Given the description of an element on the screen output the (x, y) to click on. 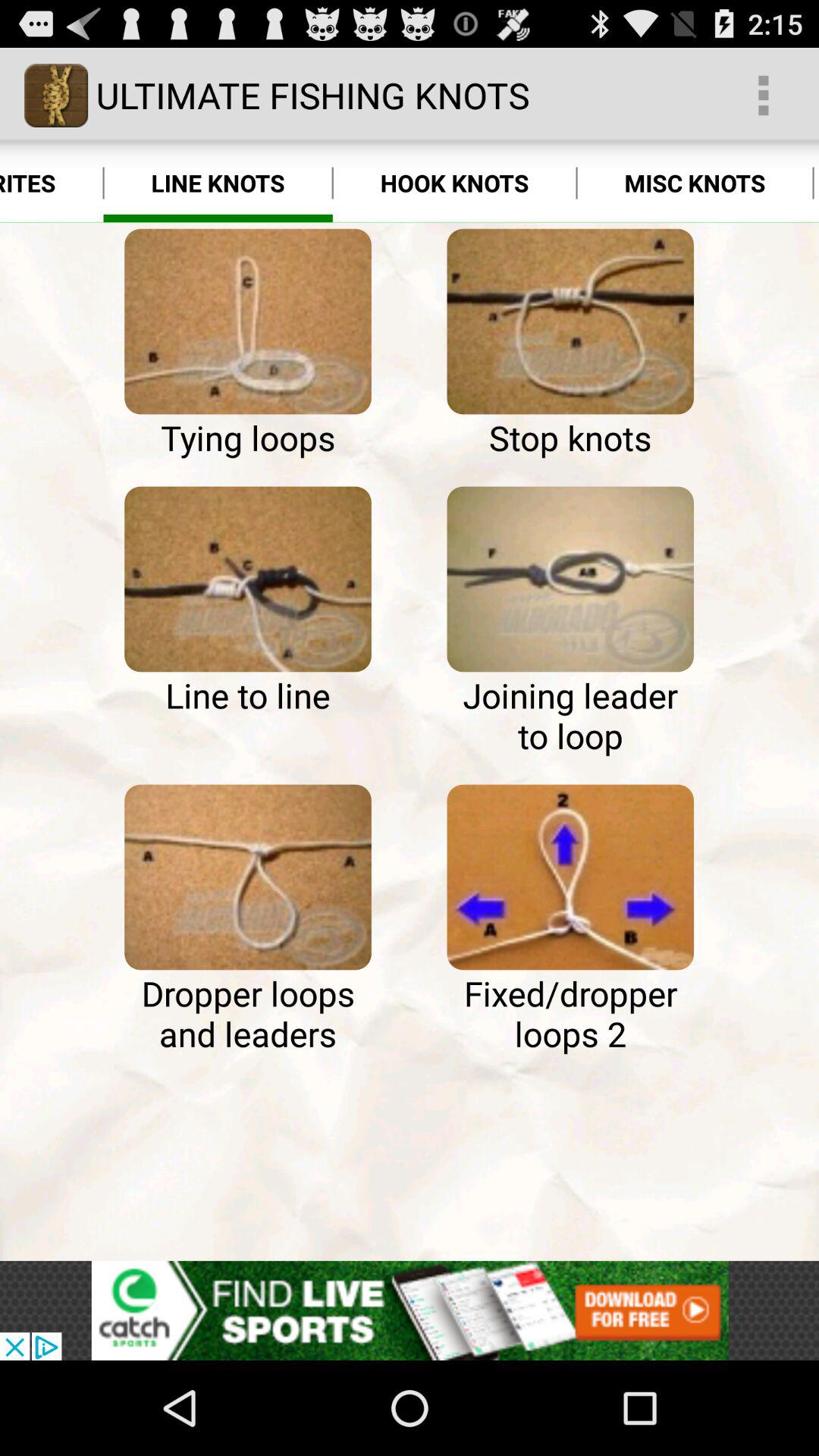
view line to line knot (247, 578)
